Given the description of an element on the screen output the (x, y) to click on. 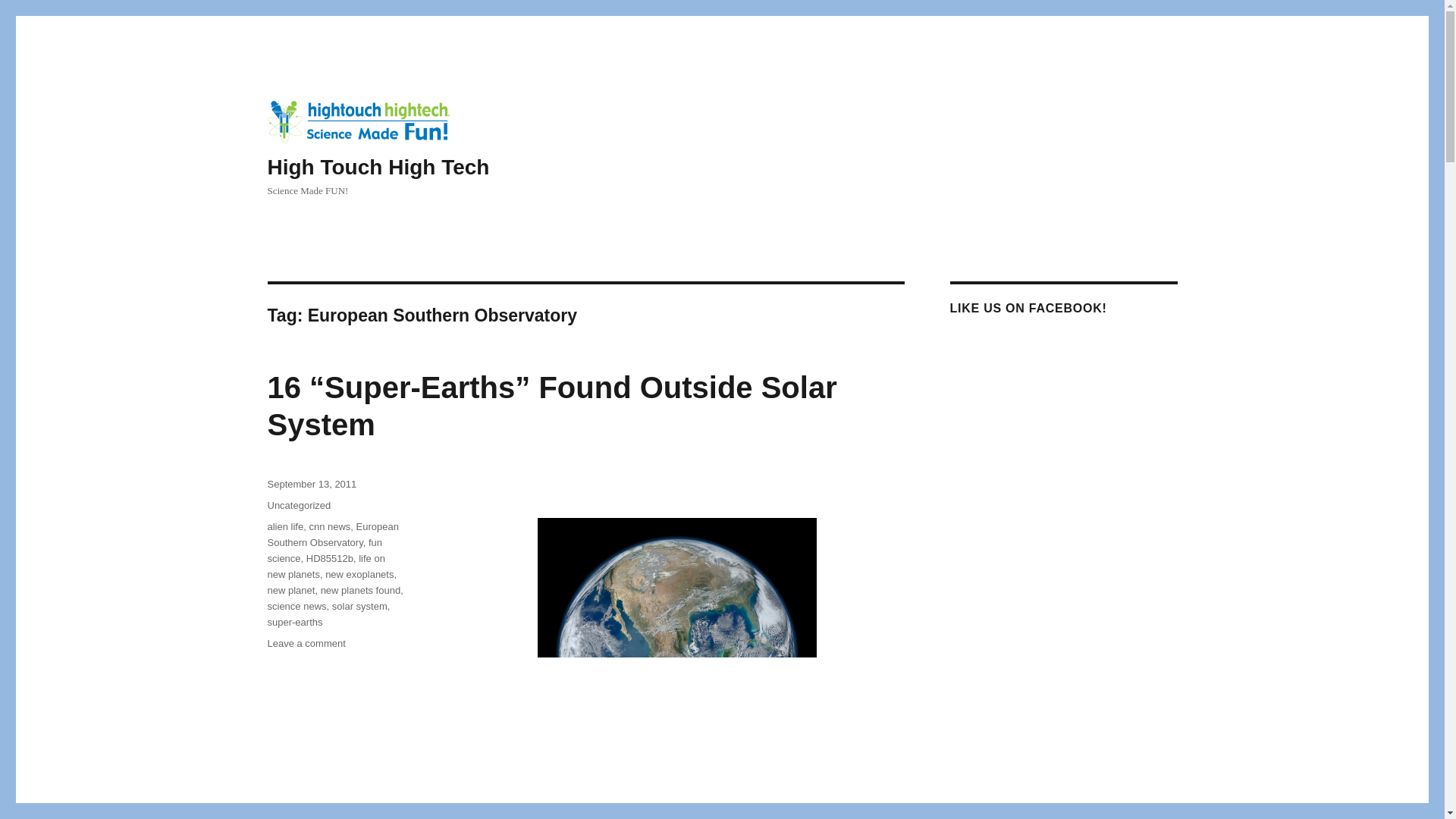
HD85512b (329, 558)
new planet (290, 590)
super-earths (293, 622)
Uncategorized (298, 505)
alien life (284, 526)
new planets found (360, 590)
cnn news (329, 526)
solar system (359, 605)
fun science (323, 550)
new exoplanets (358, 573)
